Given the description of an element on the screen output the (x, y) to click on. 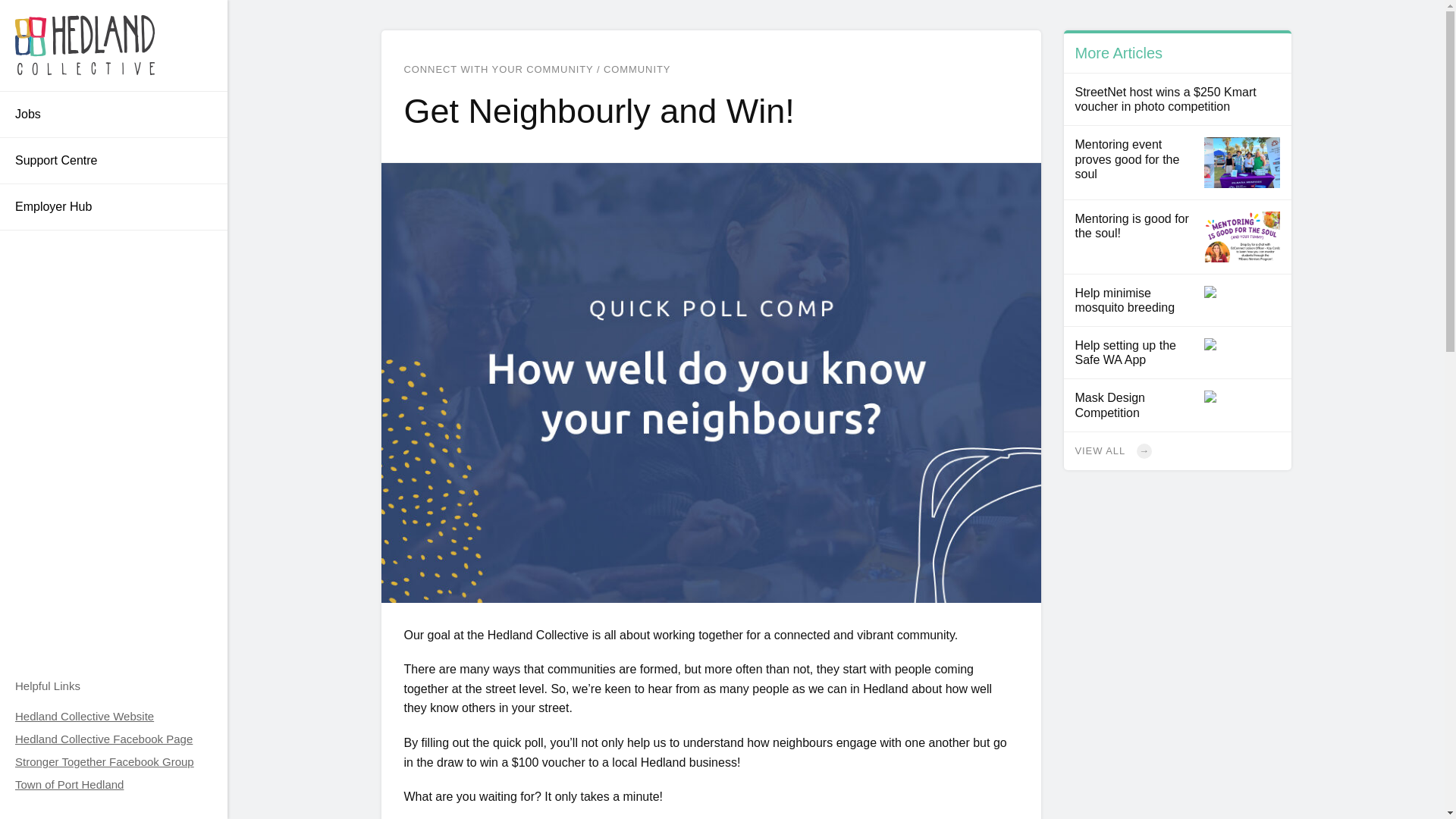
Help setting up the Safe WA App (1176, 352)
Mentoring is good for the soul! (1176, 236)
Hedland Collective Website (84, 716)
Help setting up the Safe WA App (1176, 352)
CONNECT WITH YOUR COMMUNITY (497, 69)
Employer Hub (113, 207)
Stronger Together Facebook Group (103, 773)
Town of Port Hedland (68, 784)
COMMUNITY (636, 69)
Connect With Your Community (1176, 451)
